Given the description of an element on the screen output the (x, y) to click on. 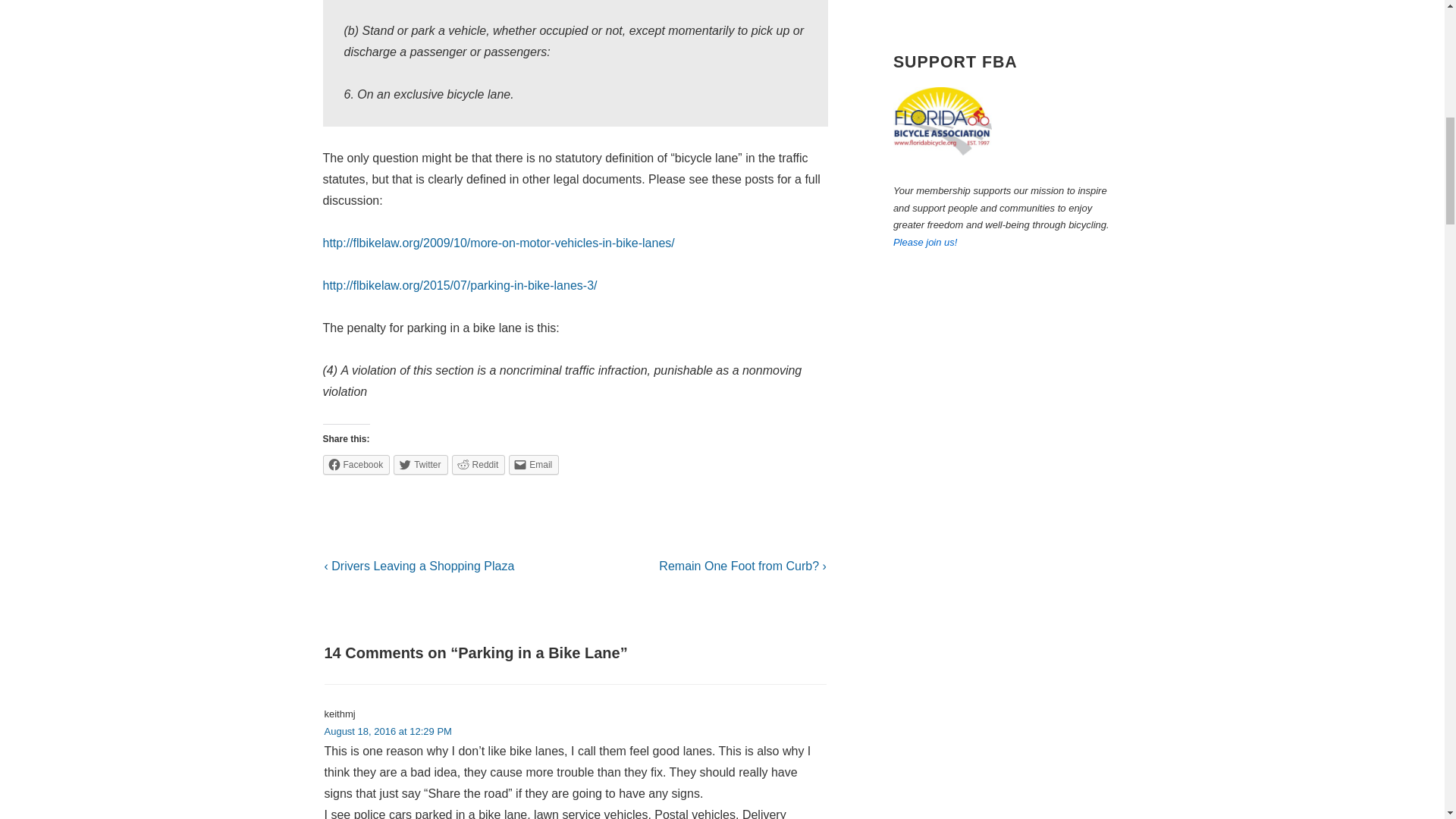
Reddit (478, 465)
August 18, 2016 at 12:29 PM (387, 731)
Click to share on Facebook (356, 465)
Twitter (419, 465)
Click to share on Reddit (478, 465)
Facebook (356, 465)
Click to email this to a friend (533, 465)
Email (533, 465)
Click to share on Twitter (419, 465)
